Given the description of an element on the screen output the (x, y) to click on. 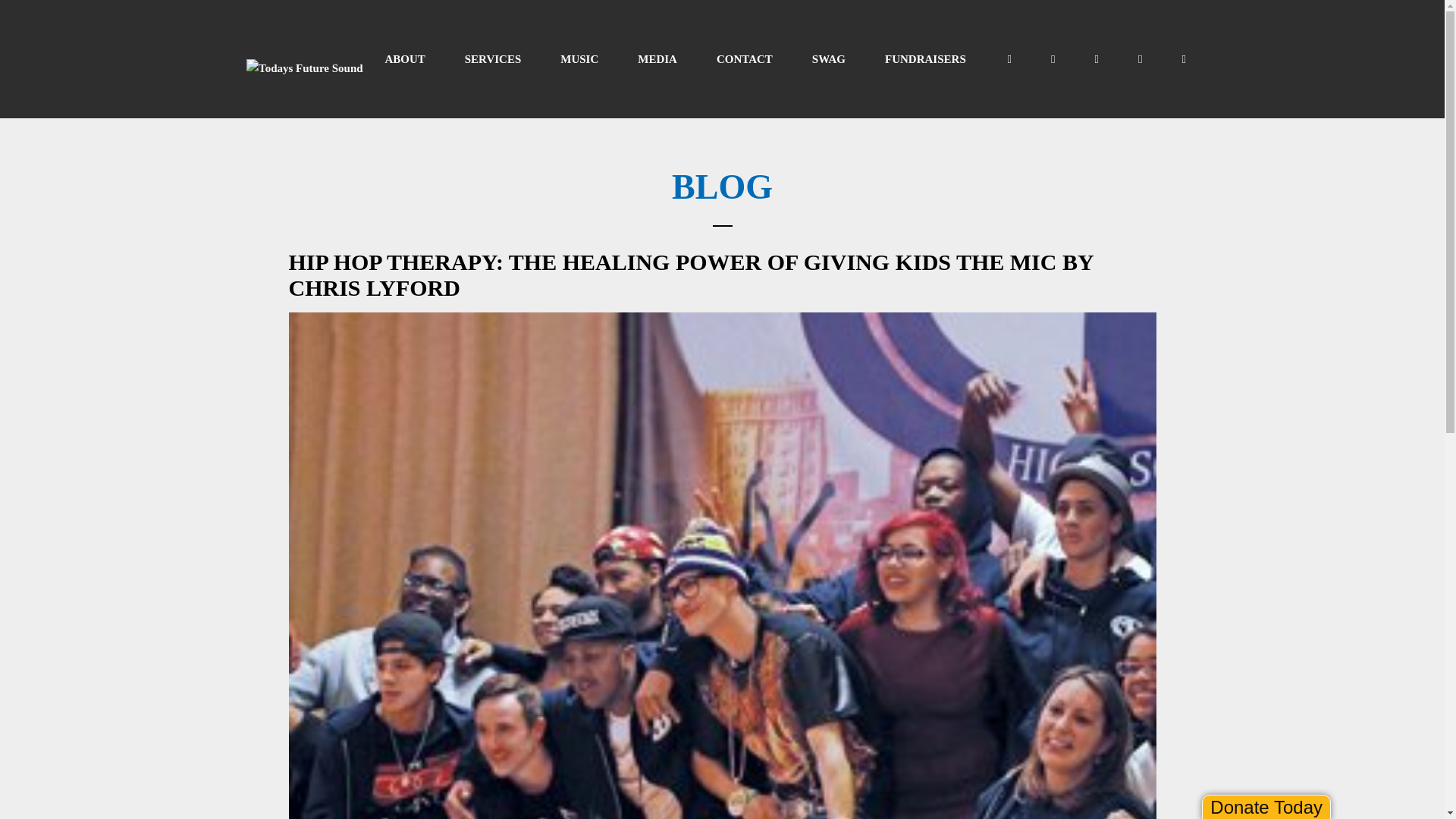
FUNDRAISERS (925, 59)
MEDIA (657, 59)
MUSIC (579, 59)
Donate Today (1266, 806)
SWAG (828, 59)
ABOUT (404, 59)
SERVICES (493, 59)
CONTACT (744, 59)
